Given the description of an element on the screen output the (x, y) to click on. 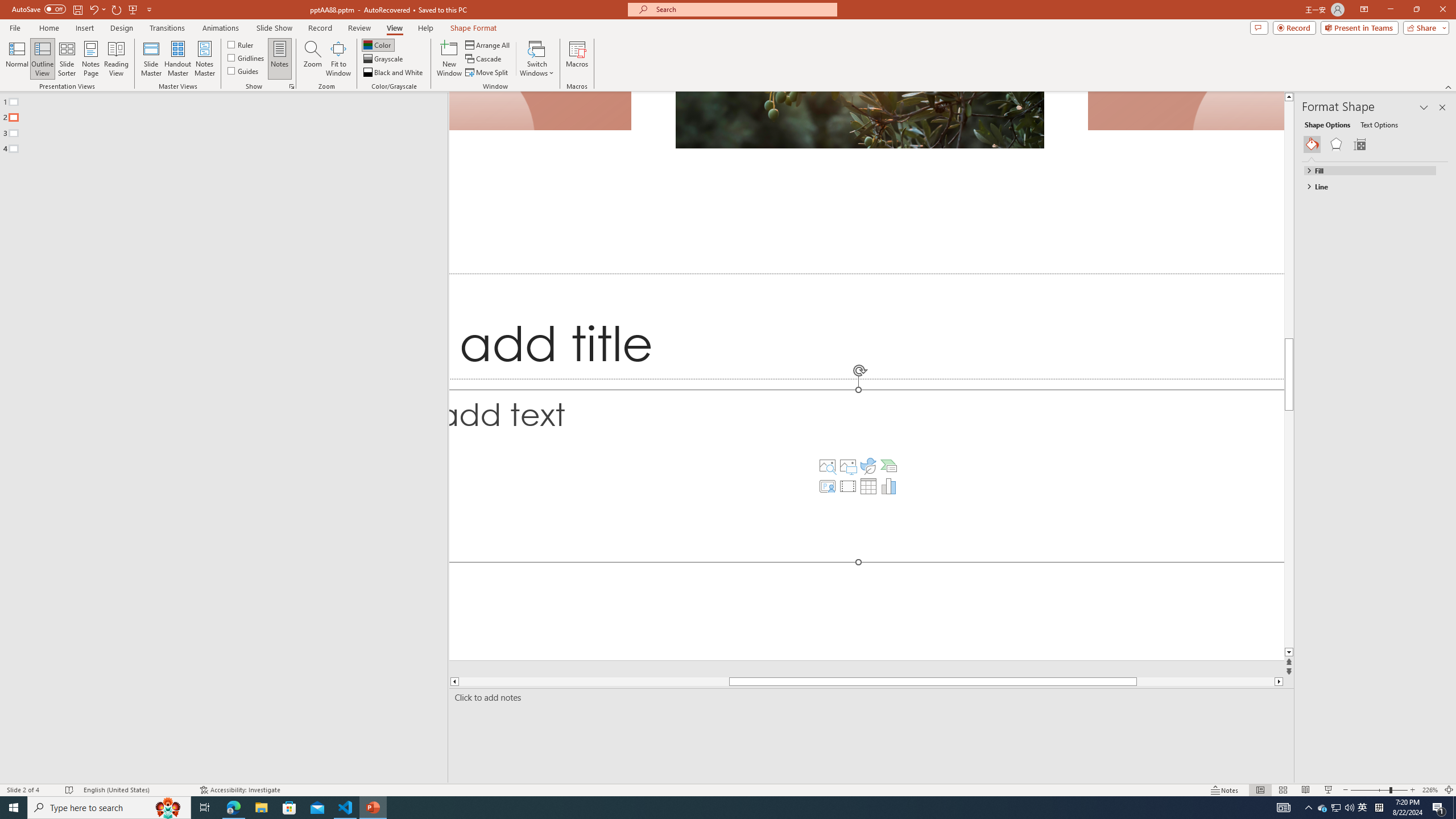
Insert Chart (888, 486)
Content Placeholder (866, 475)
Notes Master (204, 58)
Zoom 226% (1430, 790)
Arrange All (488, 44)
Decorative Locked (866, 375)
